Given the description of an element on the screen output the (x, y) to click on. 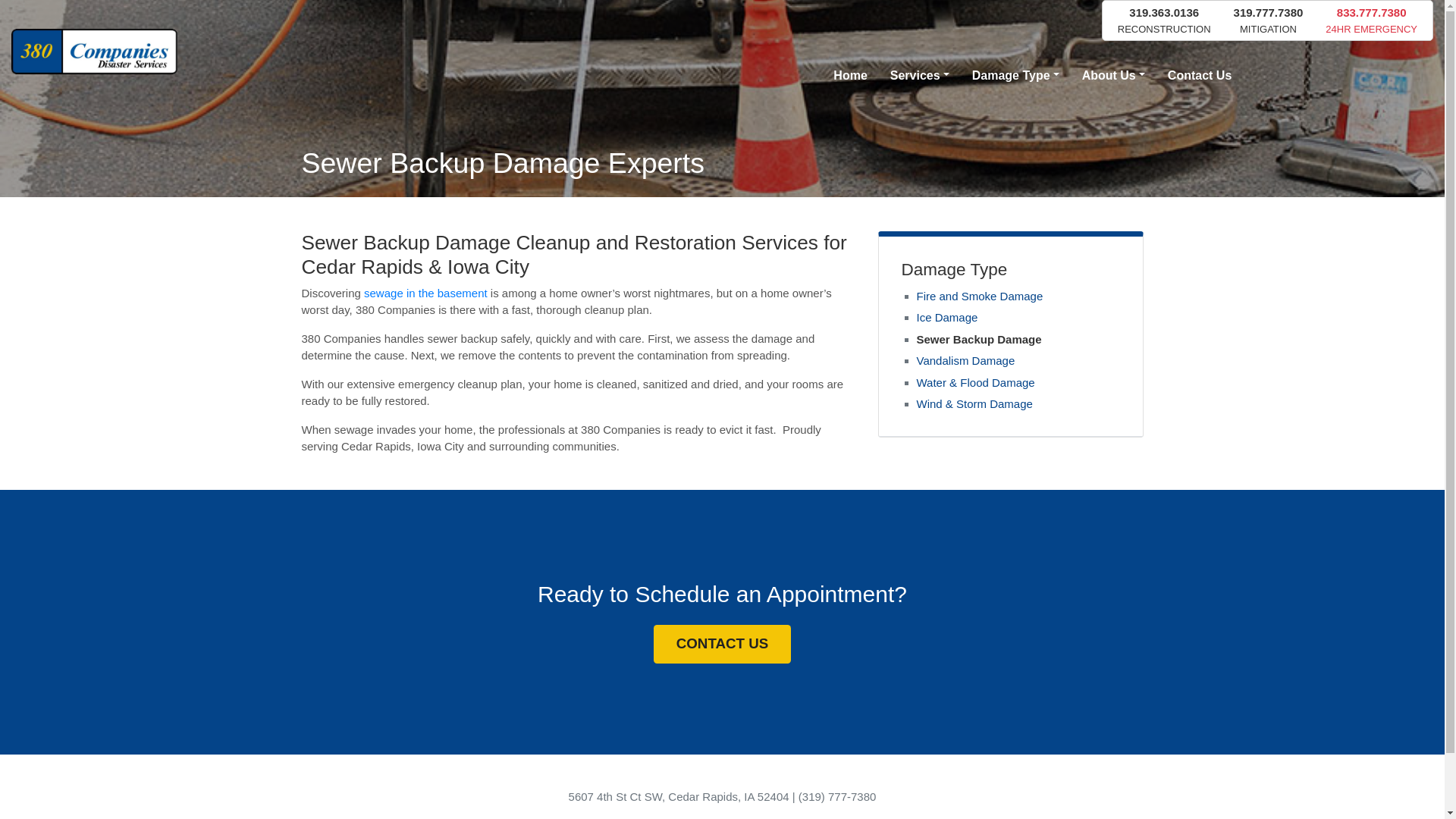
Sewer Backup Damage Element type: text (978, 338)
Wind & Storm Damage Element type: text (974, 403)
319.363.0136
RECONSTRUCTION Element type: text (1164, 20)
Ice Damage Element type: text (946, 316)
Vandalism Damage Element type: text (965, 360)
CONTACT US Element type: text (722, 643)
833.777.7380
24HR EMERGENCY Element type: text (1371, 20)
Damage Type Element type: text (1015, 75)
319.777.7380
MITIGATION Element type: text (1268, 20)
Water & Flood Damage Element type: text (975, 382)
Contact Us Element type: text (1199, 75)
Fire and Smoke Damage Element type: text (979, 295)
About Us Element type: text (1113, 75)
sewage in the basement Element type: text (425, 292)
Services Element type: text (919, 75)
Home Element type: text (849, 75)
